Given the description of an element on the screen output the (x, y) to click on. 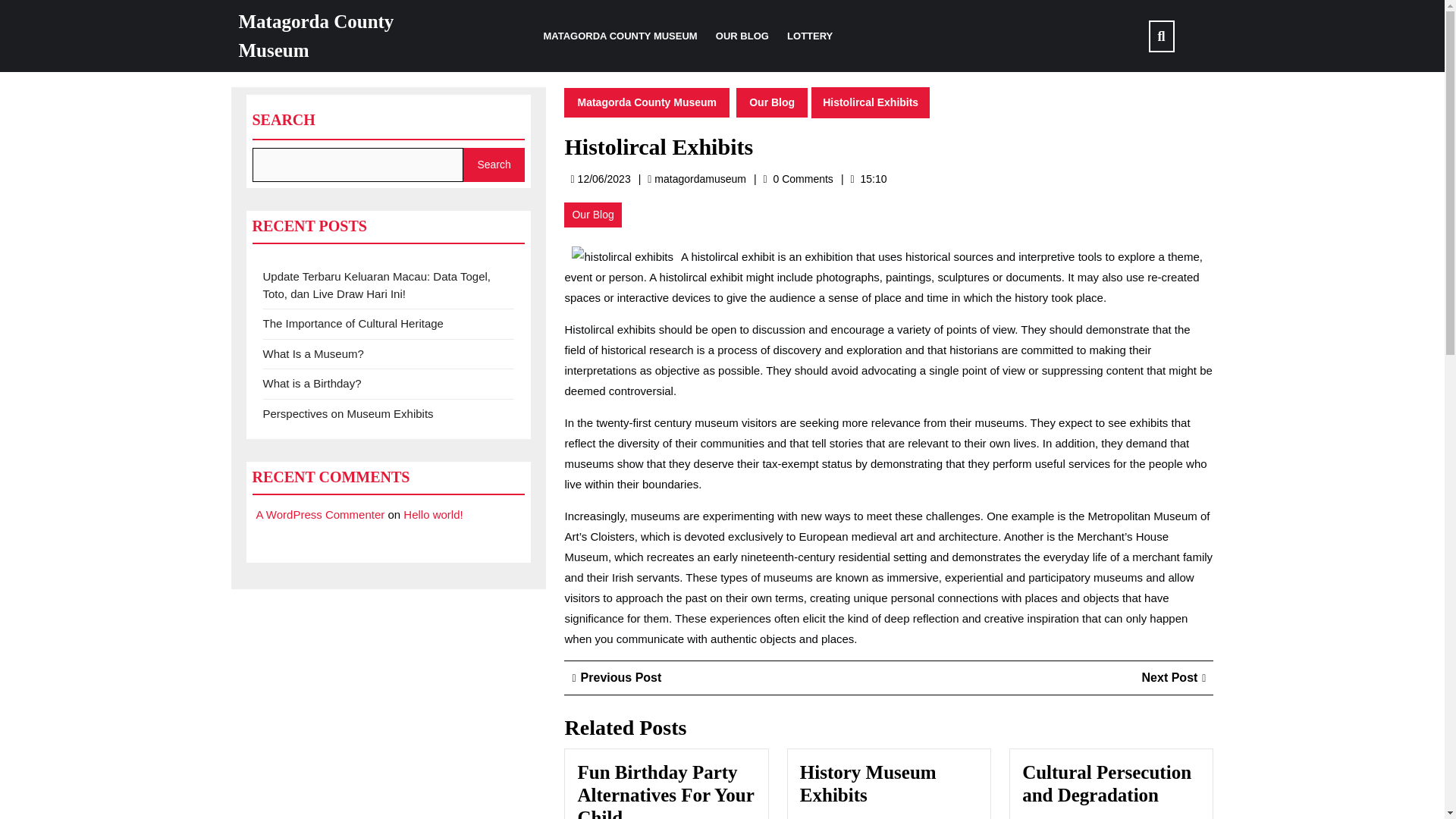
Perspectives on Museum Exhibits (347, 412)
The Importance of Cultural Heritage (352, 323)
Matagorda County Museum (699, 178)
Matagorda County Museum (646, 102)
MATAGORDA COUNTY MUSEUM (616, 676)
A WordPress Commenter (315, 35)
Hello world! (620, 35)
What is a Birthday? (320, 513)
Our Blog (433, 513)
What Is a Museum? (311, 382)
Fun Birthday Party Alternatives For Your Child (772, 102)
History Museum Exhibits (312, 353)
